Given the description of an element on the screen output the (x, y) to click on. 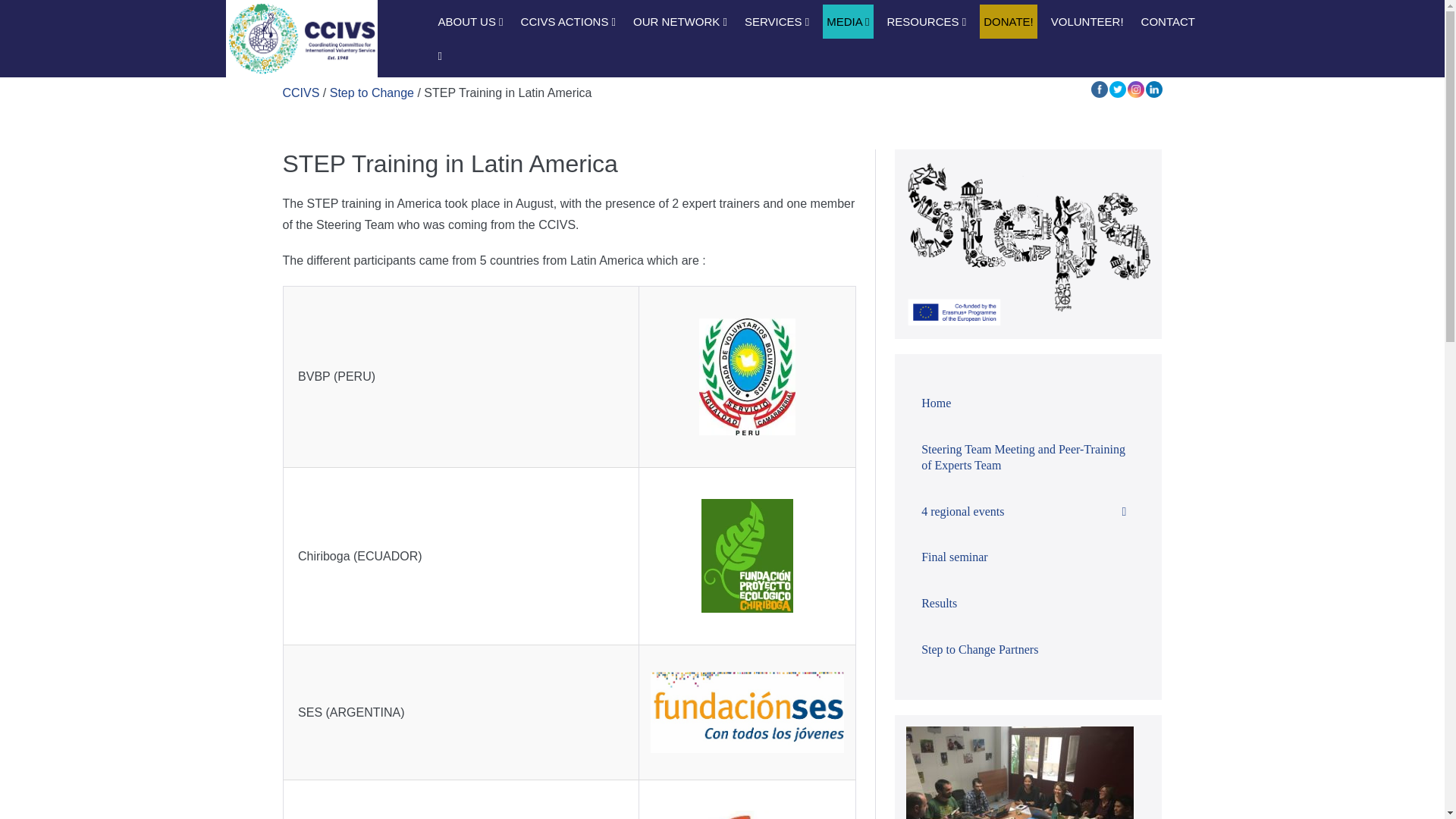
Instagram (1135, 89)
LinkedIn (1152, 89)
CCIVS ACTIONS (568, 21)
MEDIA (847, 21)
CCIVS (301, 38)
VOLUNTEER! (1086, 21)
Go to CCIVS. (300, 92)
Go to the Step to Change category archives. (371, 92)
SERVICES (776, 21)
ABOUT US (469, 21)
